Given the description of an element on the screen output the (x, y) to click on. 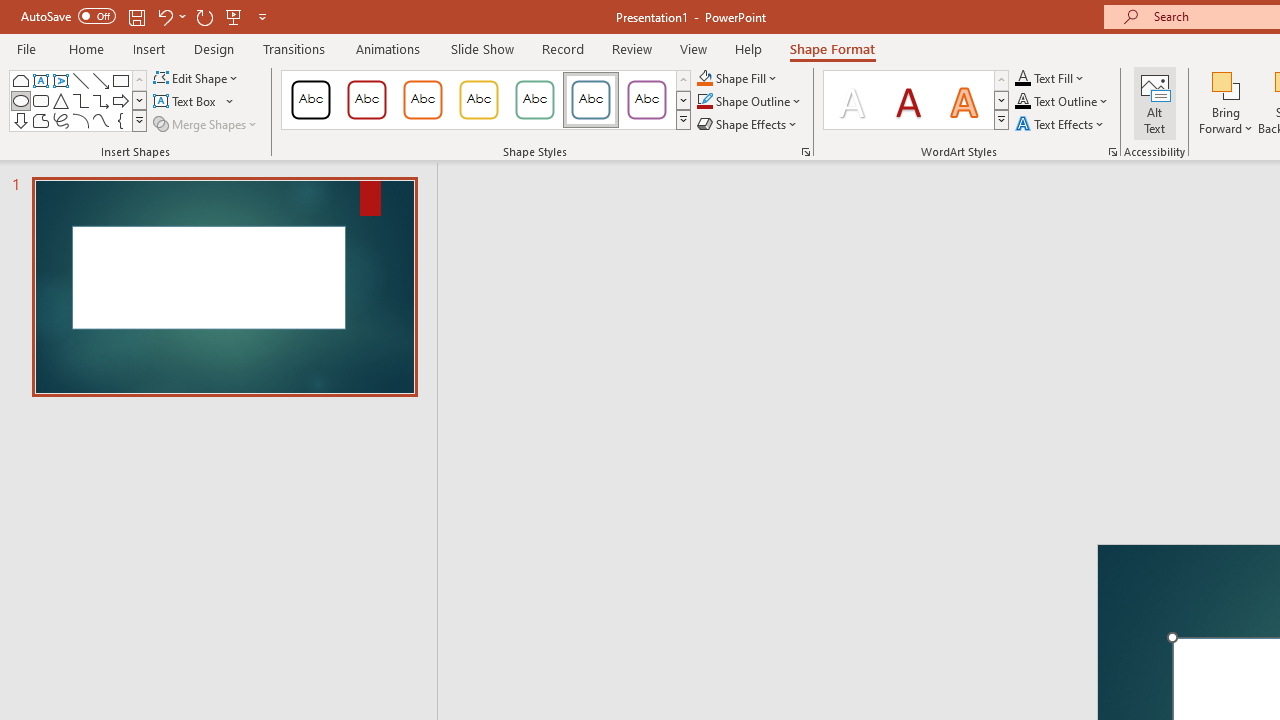
Connector: Elbow Arrow (100, 100)
AutomationID: TextStylesGallery (916, 99)
Colored Outline - Orange, Accent 2 (422, 100)
Colored Outline - Blue-Gray, Accent 5 (591, 100)
Shape Outline No Outline (704, 101)
Edit Shape (196, 78)
Text Outline (1062, 101)
Arc (80, 120)
Shape Fill (737, 78)
Merge Shapes (206, 124)
Isosceles Triangle (60, 100)
Curve (100, 120)
